Given the description of an element on the screen output the (x, y) to click on. 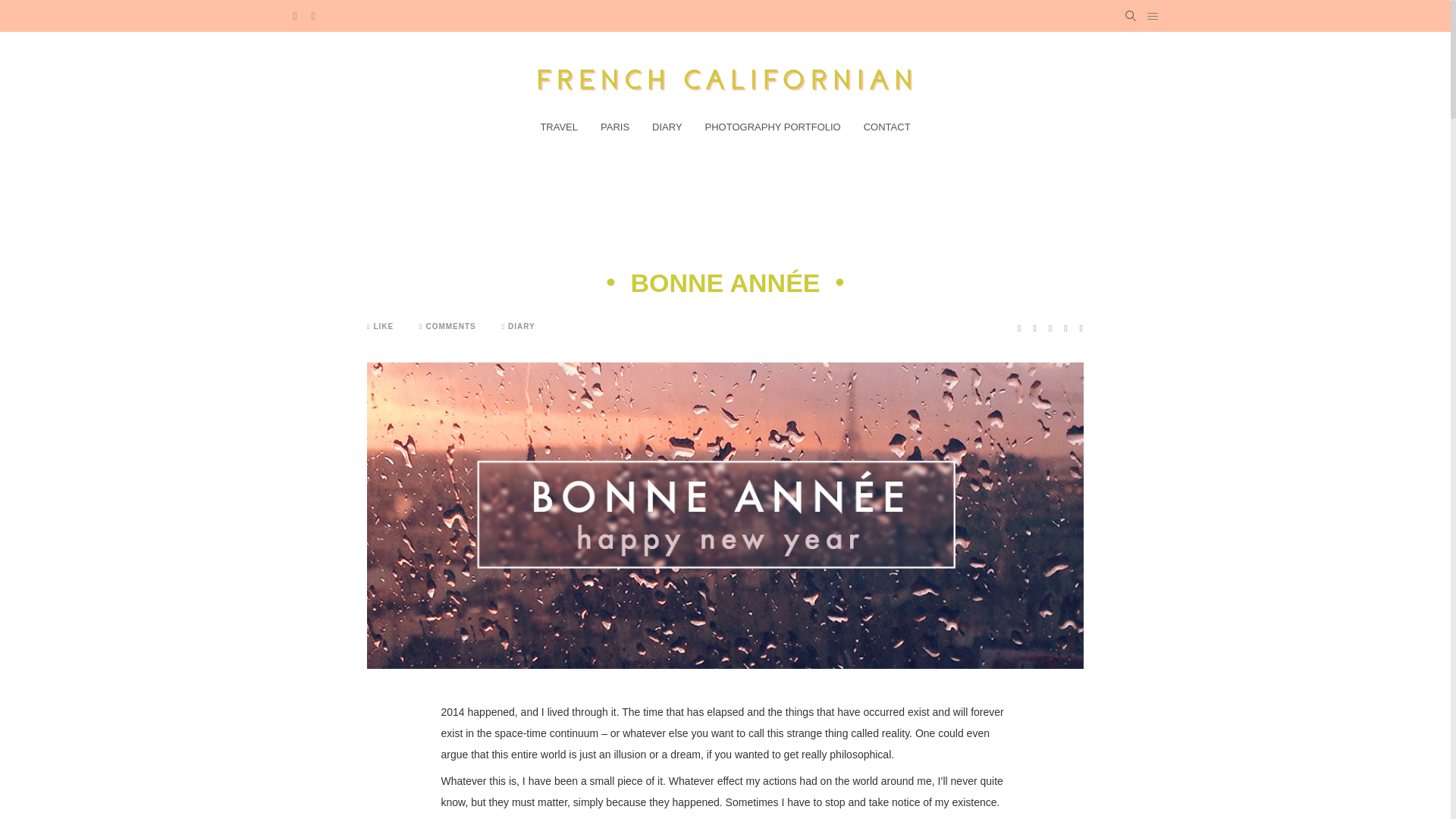
PARIS (613, 126)
PHOTOGRAPHY PORTFOLIO (772, 126)
CONTACT (887, 126)
TRAVEL (559, 126)
LIKE (379, 326)
DIARY (667, 126)
DIARY (521, 326)
COMMENTS (447, 326)
